Given the description of an element on the screen output the (x, y) to click on. 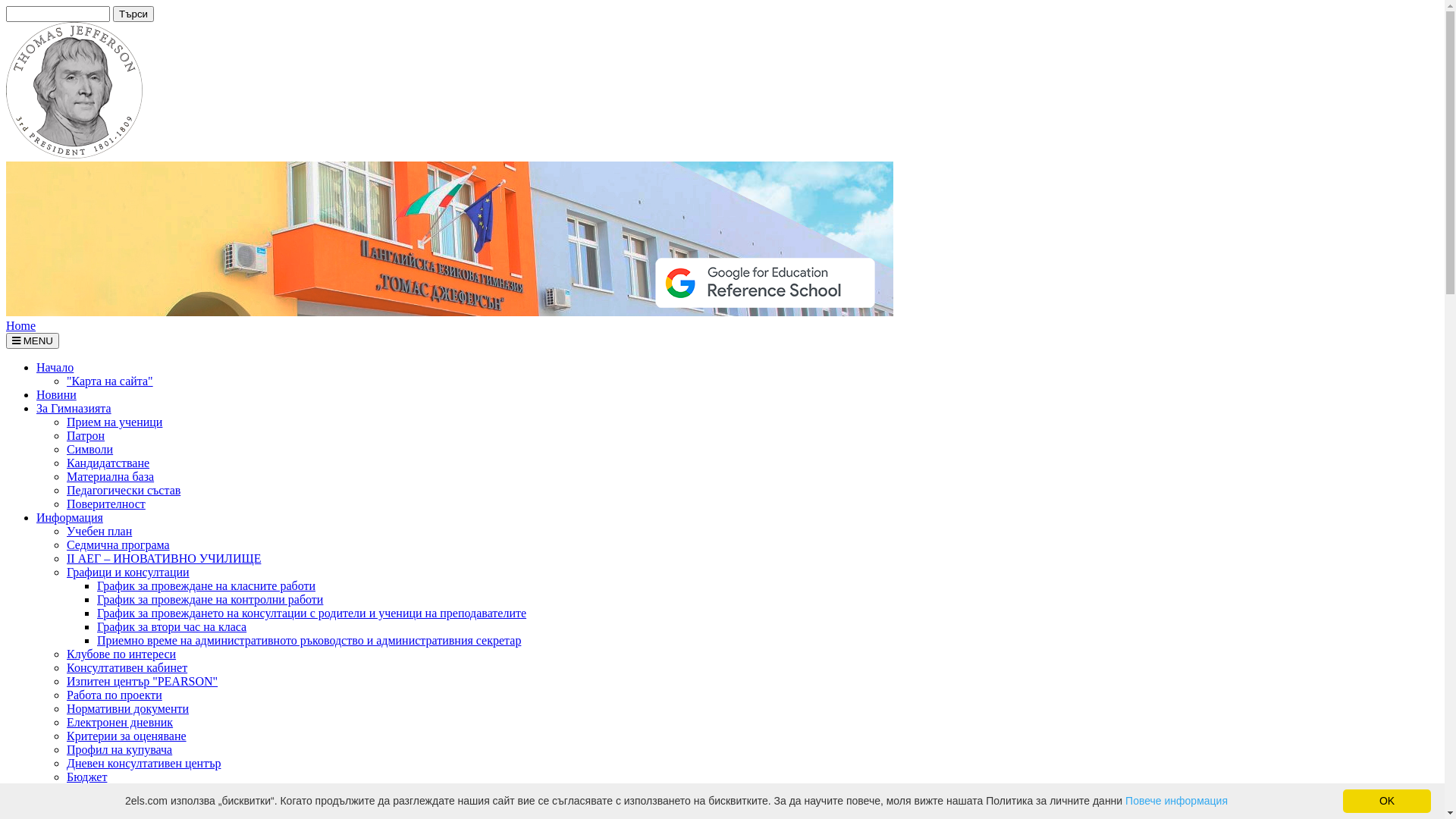
MENU Element type: text (32, 340)
Home Element type: text (20, 325)
